Given the description of an element on the screen output the (x, y) to click on. 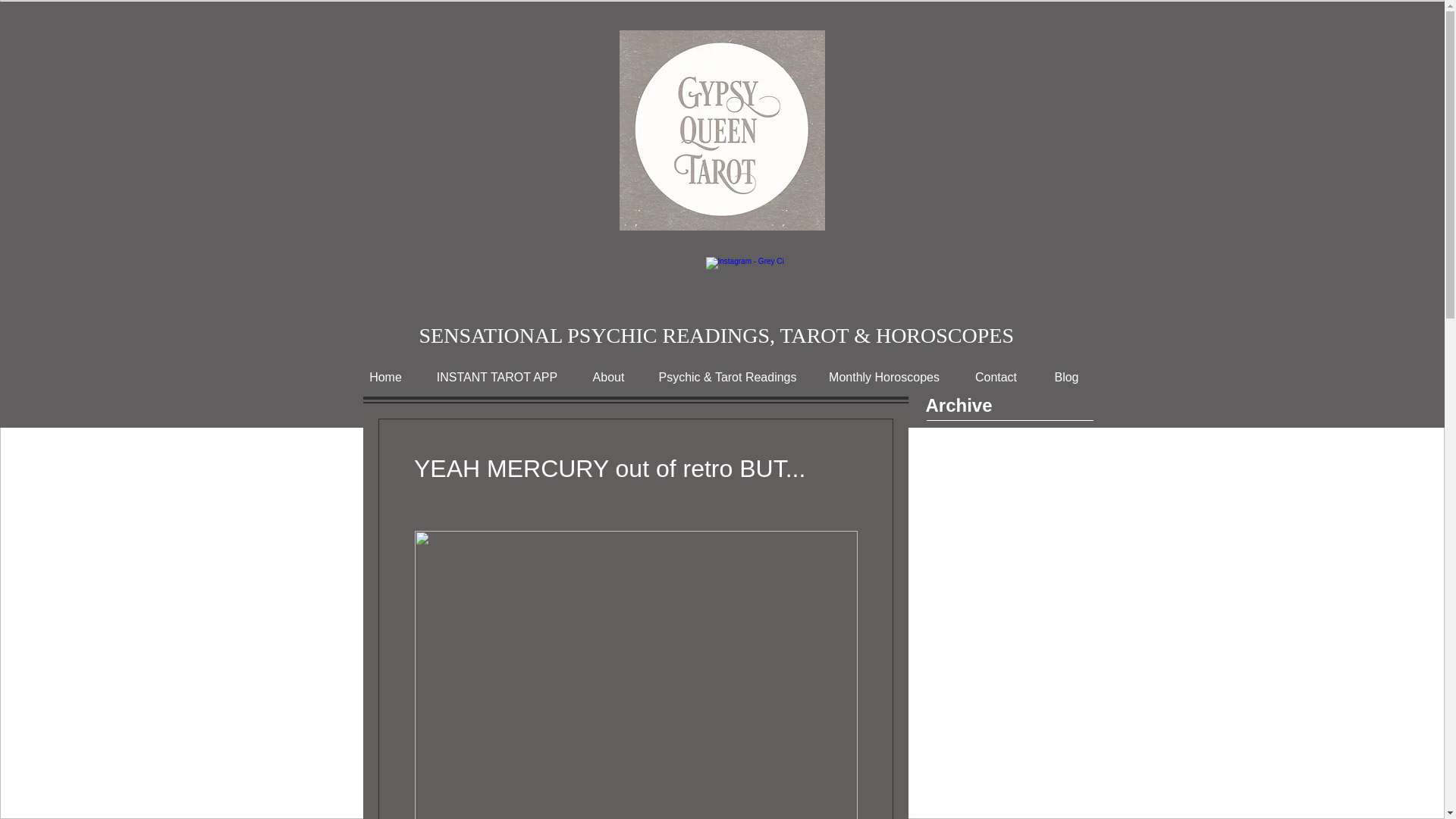
INSTANT TAROT APP (496, 377)
Contact (995, 377)
About (608, 377)
Monthly Horoscopes (883, 377)
Home (385, 377)
Blog (1066, 377)
